Given the description of an element on the screen output the (x, y) to click on. 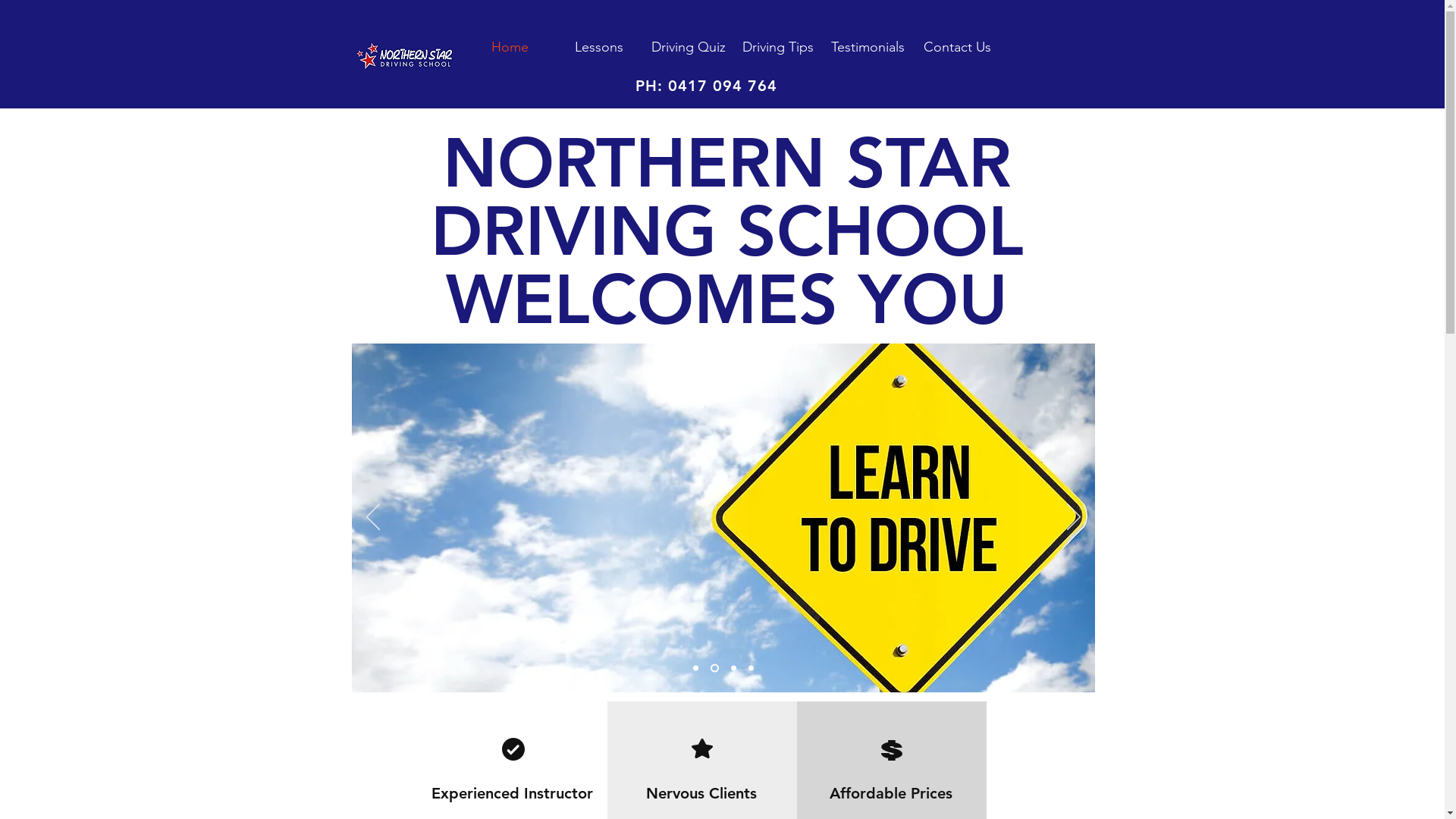
Testimonials Element type: text (867, 47)
Lessons Element type: text (598, 47)
Driving Quiz Element type: text (688, 47)
Driving Tips Element type: text (777, 47)
Home Element type: text (509, 47)
Contact Us Element type: text (956, 47)
